Given the description of an element on the screen output the (x, y) to click on. 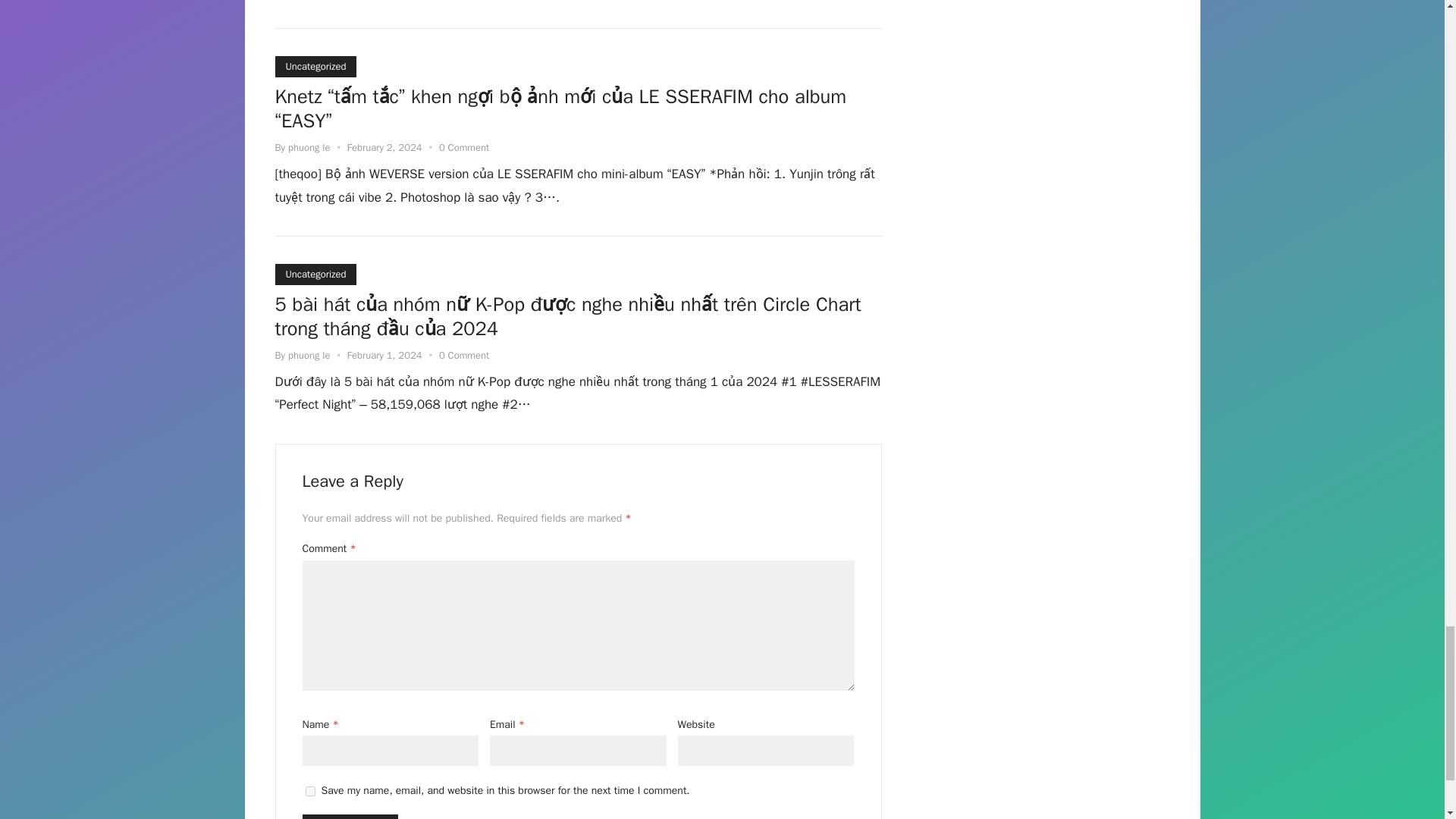
Uncategorized (315, 66)
Post Comment (349, 816)
Posts by phuong le (309, 354)
phuong le (309, 354)
0 Comment (464, 146)
Uncategorized (315, 274)
Post Comment (349, 816)
Posts by phuong le (309, 146)
phuong le (309, 146)
yes (309, 791)
0 Comment (464, 354)
